Given the description of an element on the screen output the (x, y) to click on. 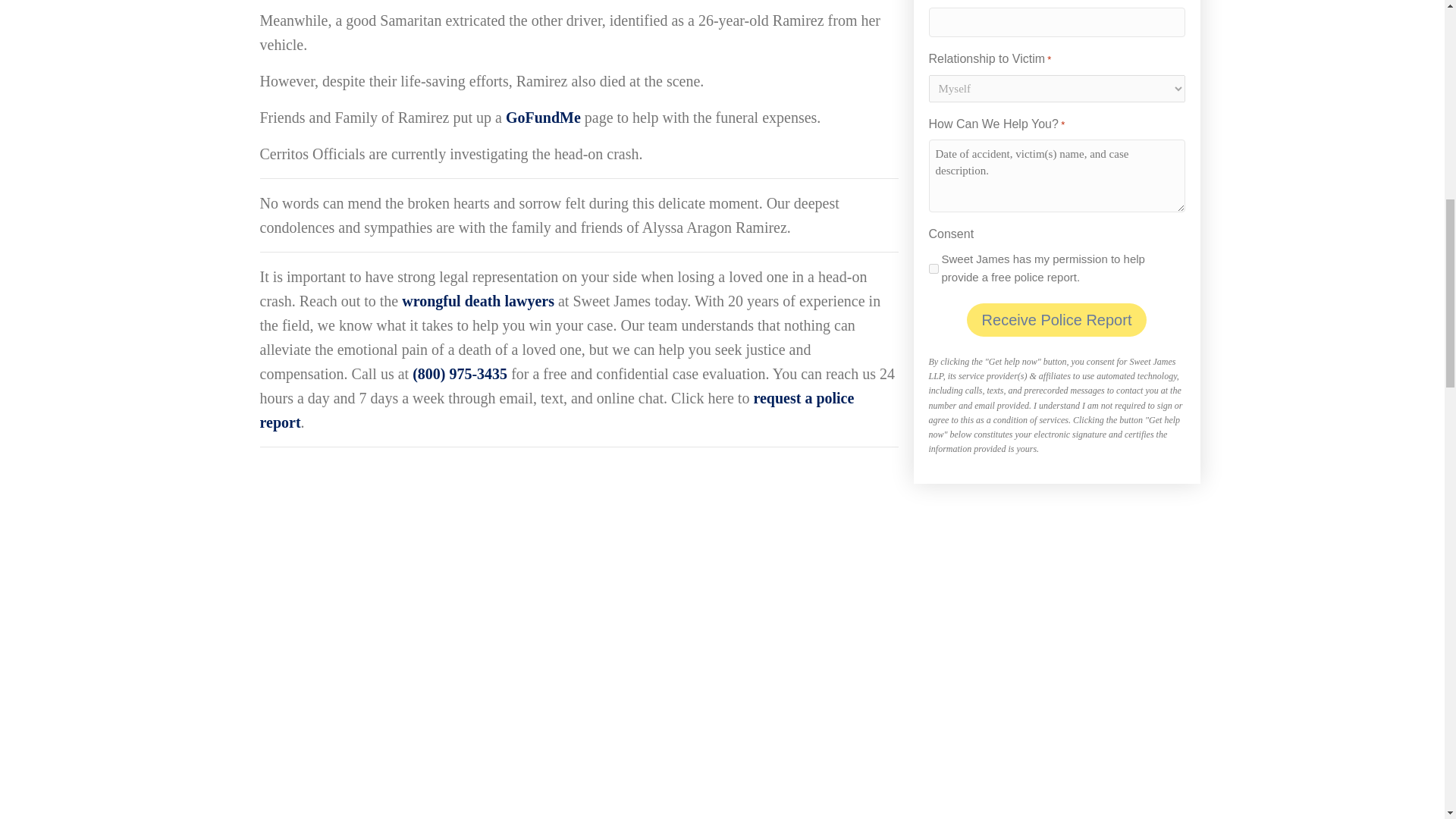
Receive Police Report (1056, 319)
request a police report (556, 409)
GoFundMe (542, 117)
wrongful death lawyers (477, 300)
Receive Police Report (1056, 319)
